Given the description of an element on the screen output the (x, y) to click on. 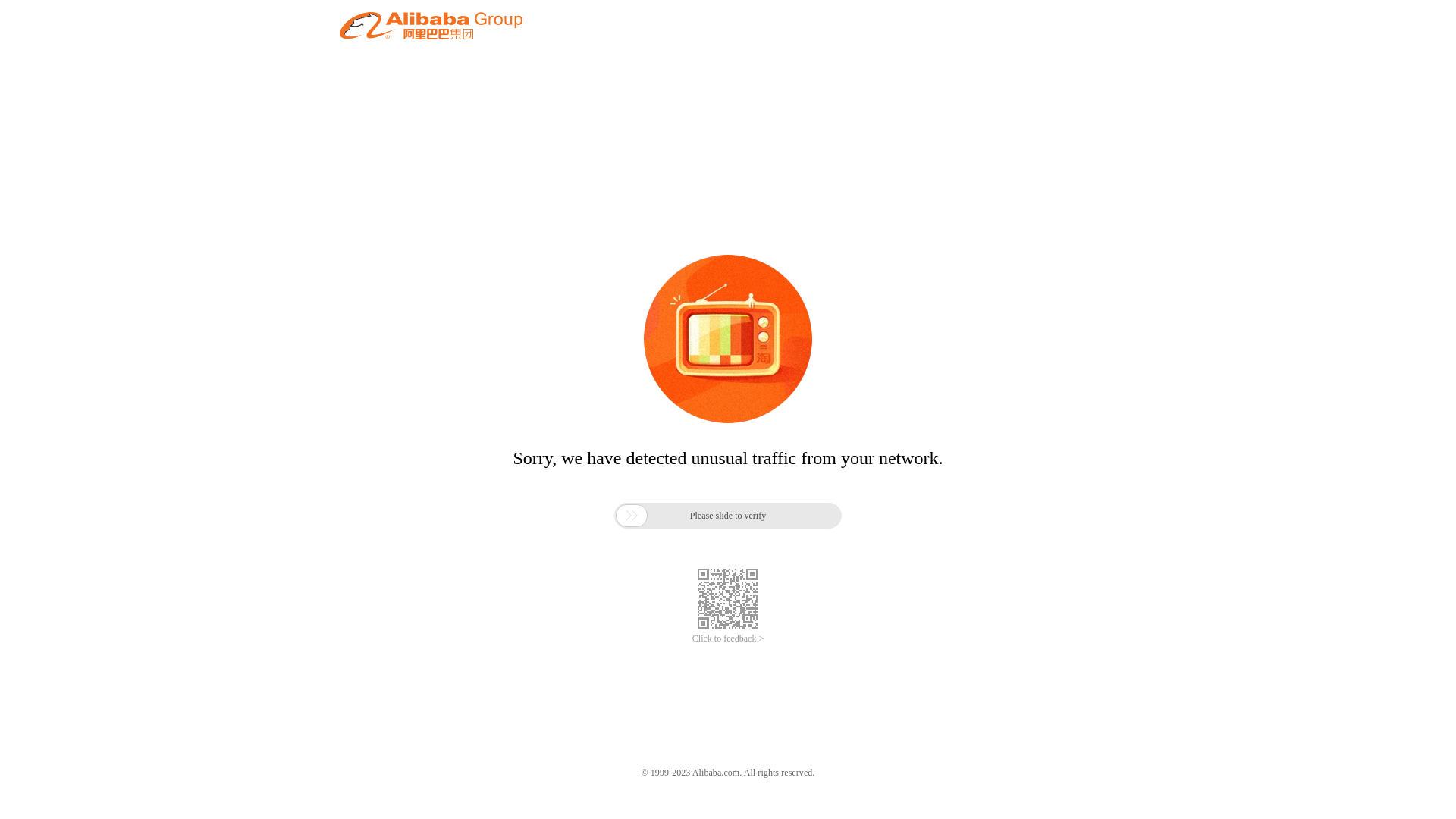
Click to feedback > Element type: text (727, 638)
